Given the description of an element on the screen output the (x, y) to click on. 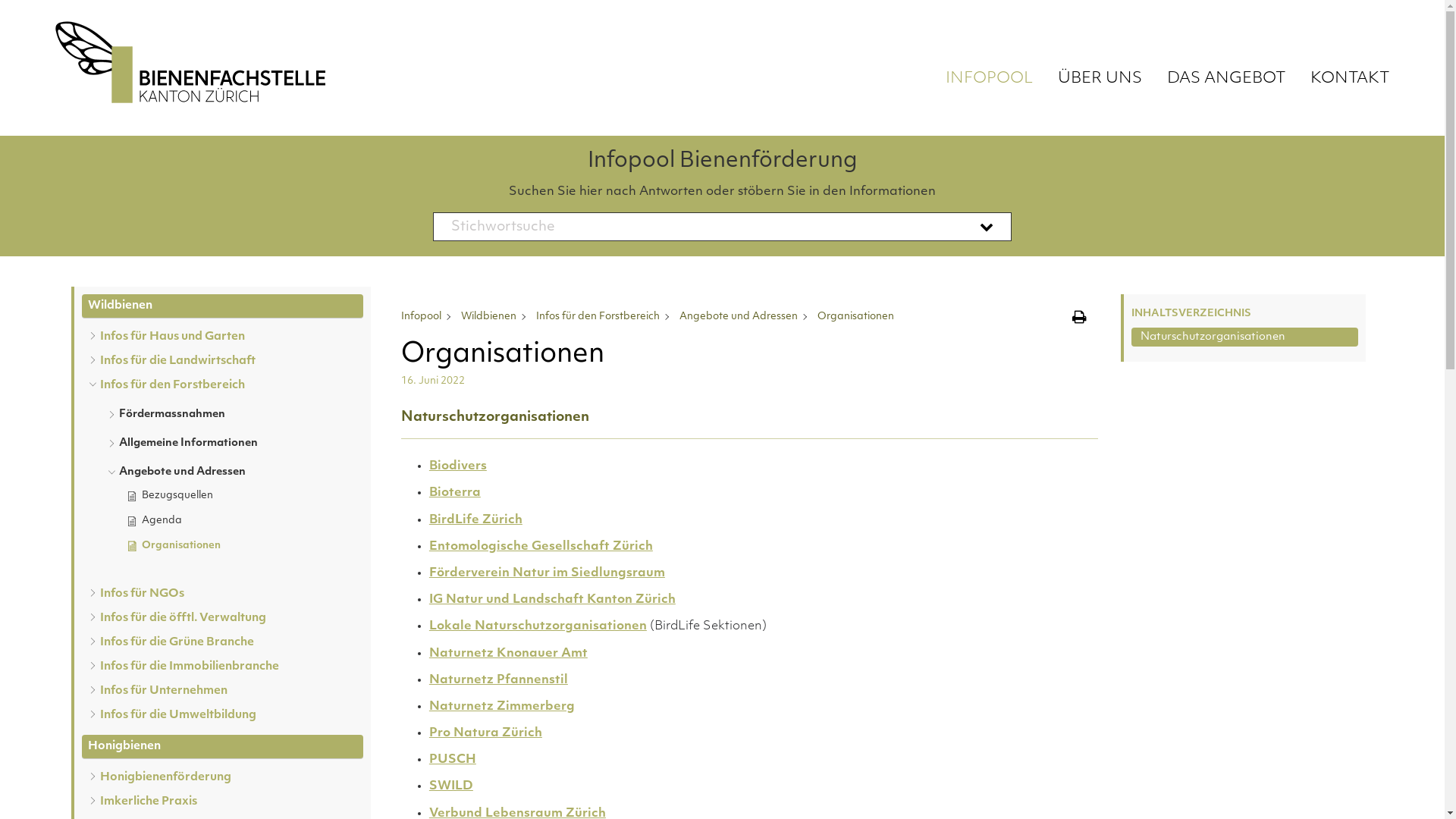
Naturschutzorganisationen Element type: text (1244, 336)
KONTAKT Element type: text (1344, 70)
Bioterra Element type: text (454, 492)
INFOPOOL Element type: text (994, 70)
Agenda Element type: text (243, 520)
PUSCH Element type: text (452, 759)
Naturnetz Zimmerberg Element type: text (501, 706)
Allgemeine Informationen Element type: text (188, 440)
Imkerliche Praxis Element type: text (148, 801)
Angebote und Adressen Element type: text (182, 469)
Lokale Naturschutzorganisationen Element type: text (537, 626)
Angebote und Adressen Element type: text (738, 316)
Wildbienen Element type: text (488, 316)
Biodivers Element type: text (457, 466)
Organisationen Element type: text (241, 545)
Infopool Element type: text (421, 316)
SWILD Element type: text (451, 786)
Bezugsquellen Element type: text (243, 495)
DAS ANGEBOT Element type: text (1225, 70)
Naturnetz Knonauer Amt Element type: text (508, 653)
Naturnetz Pfannenstil Element type: text (498, 680)
